Given the description of an element on the screen output the (x, y) to click on. 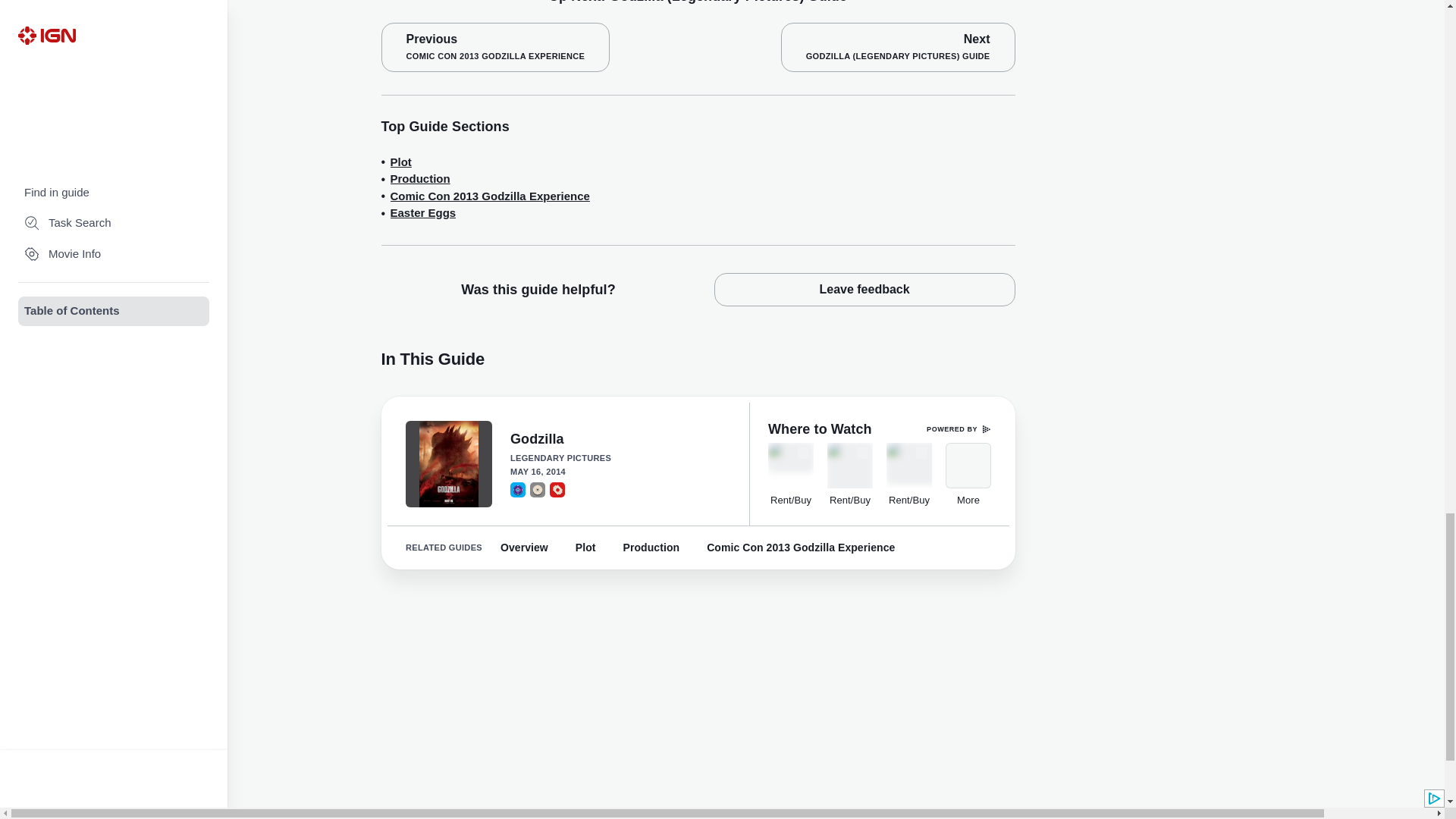
Plot (400, 162)
Comic Con 2013 Godzilla Experience (489, 196)
Blu-ray (495, 47)
Producers (516, 489)
DVD (619, 458)
Godzilla (536, 489)
DVD (619, 439)
Easter Eggs (536, 489)
Production (422, 212)
Leave feedback (419, 179)
LEGENDARY PICTURES (864, 289)
POWERED BY (619, 458)
Blu-ray (958, 429)
Blu-ray (516, 489)
